Given the description of an element on the screen output the (x, y) to click on. 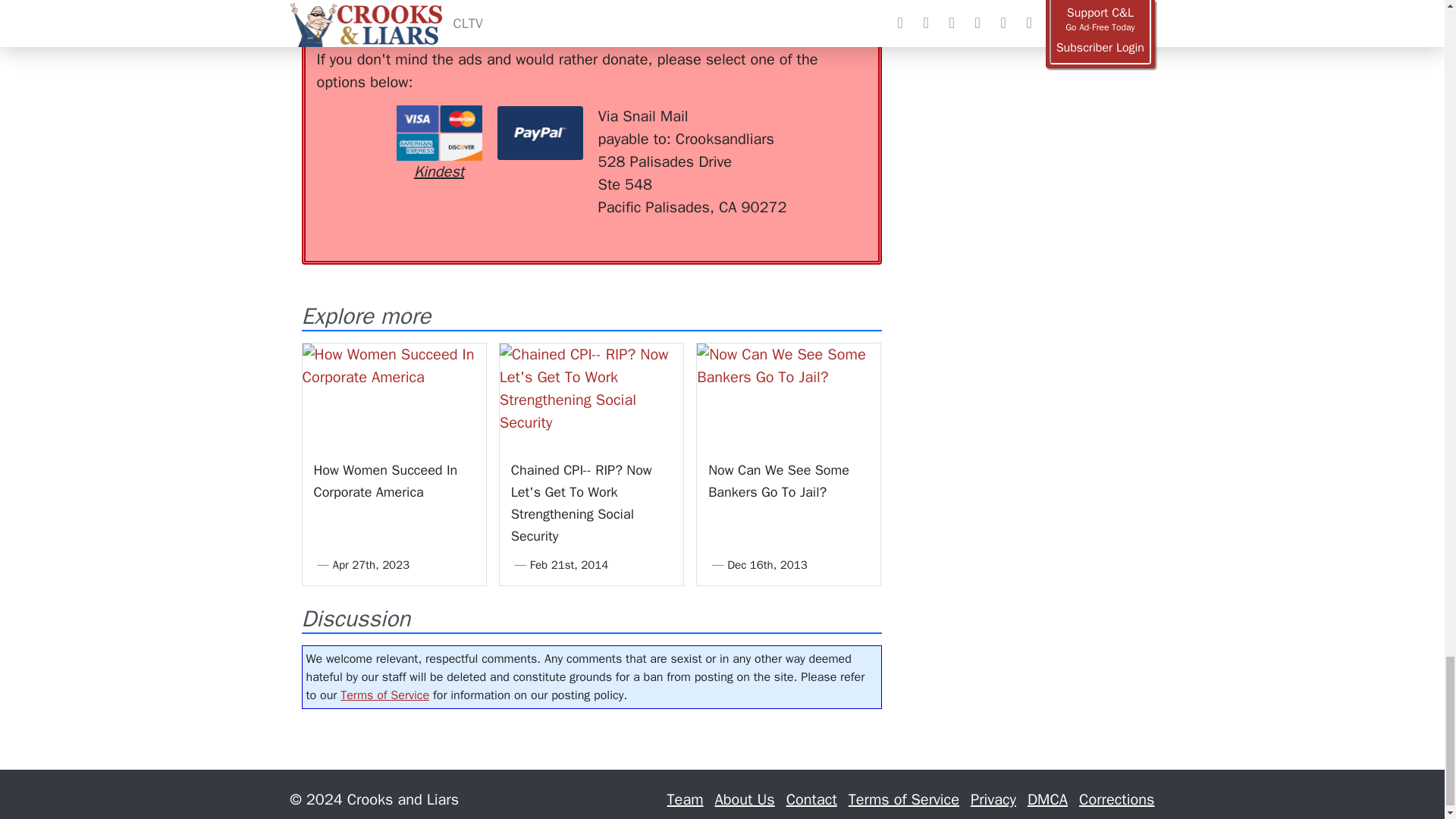
How Women Succeed In Corporate America (392, 394)
Donate via Kindest (438, 144)
Donate via PayPal (540, 132)
